Given the description of an element on the screen output the (x, y) to click on. 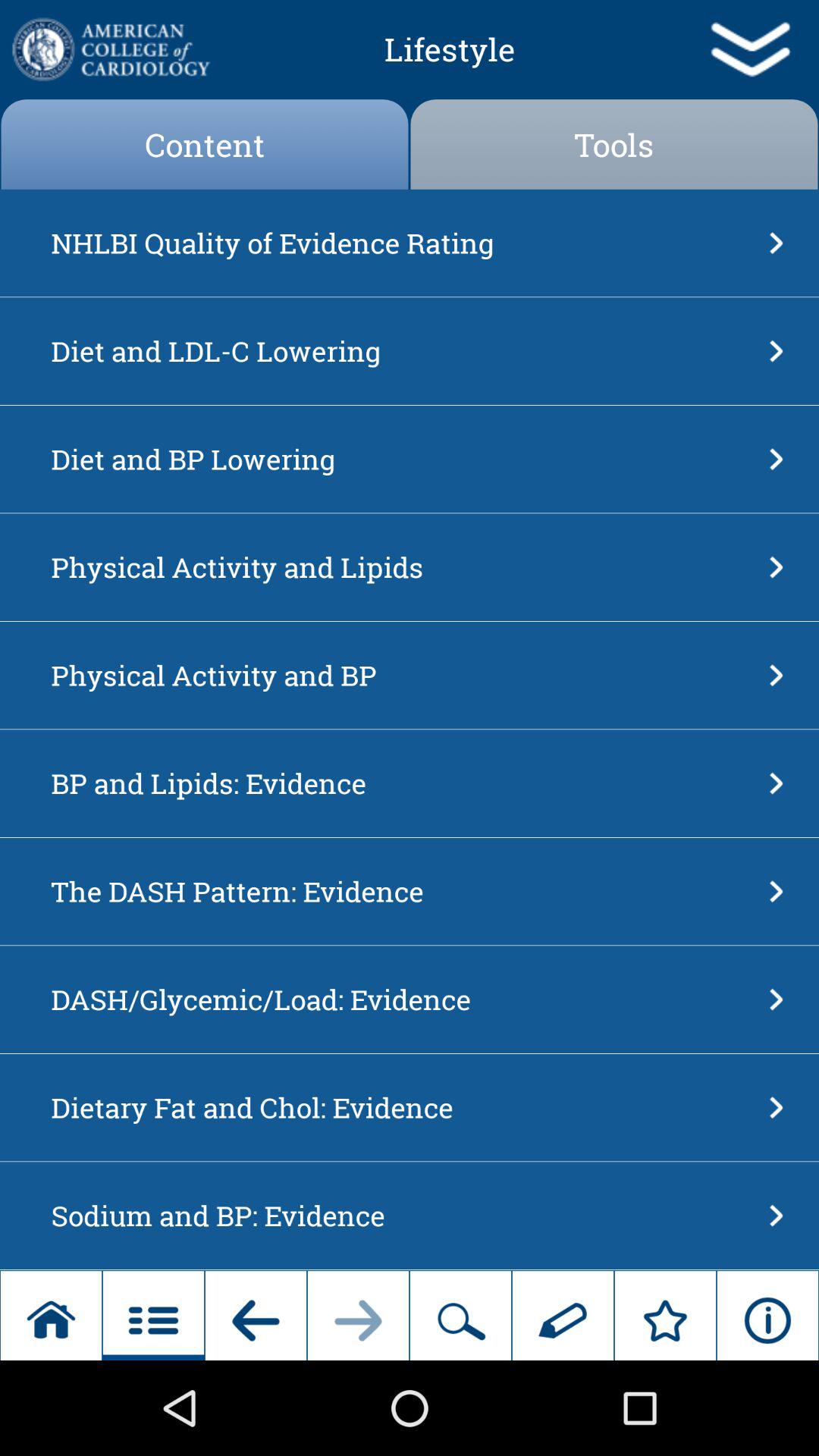
choose the item next to the tools (204, 144)
